Given the description of an element on the screen output the (x, y) to click on. 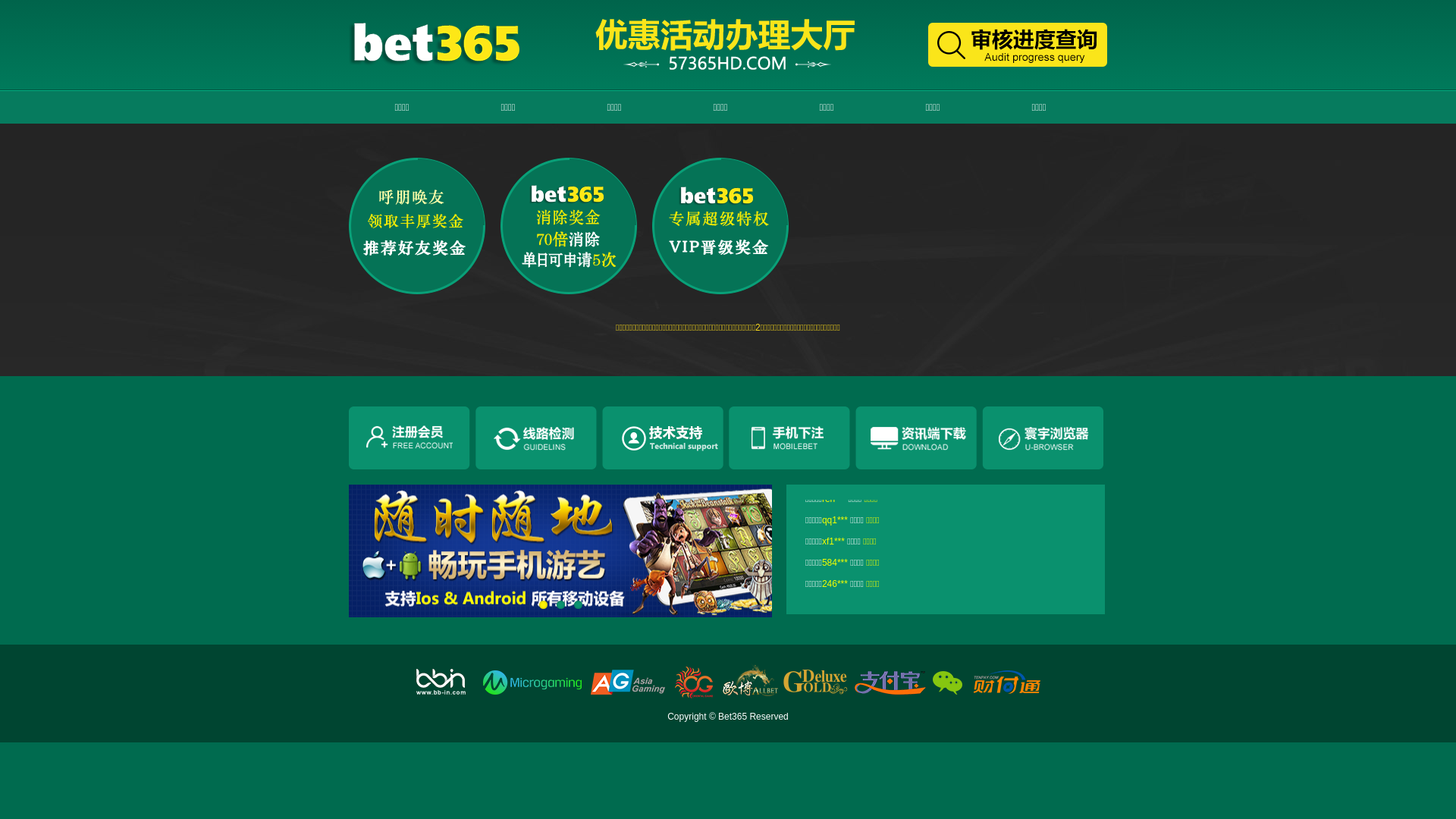
1 Element type: text (542, 604)
3 Element type: text (577, 604)
2 Element type: text (560, 604)
